Given the description of an element on the screen output the (x, y) to click on. 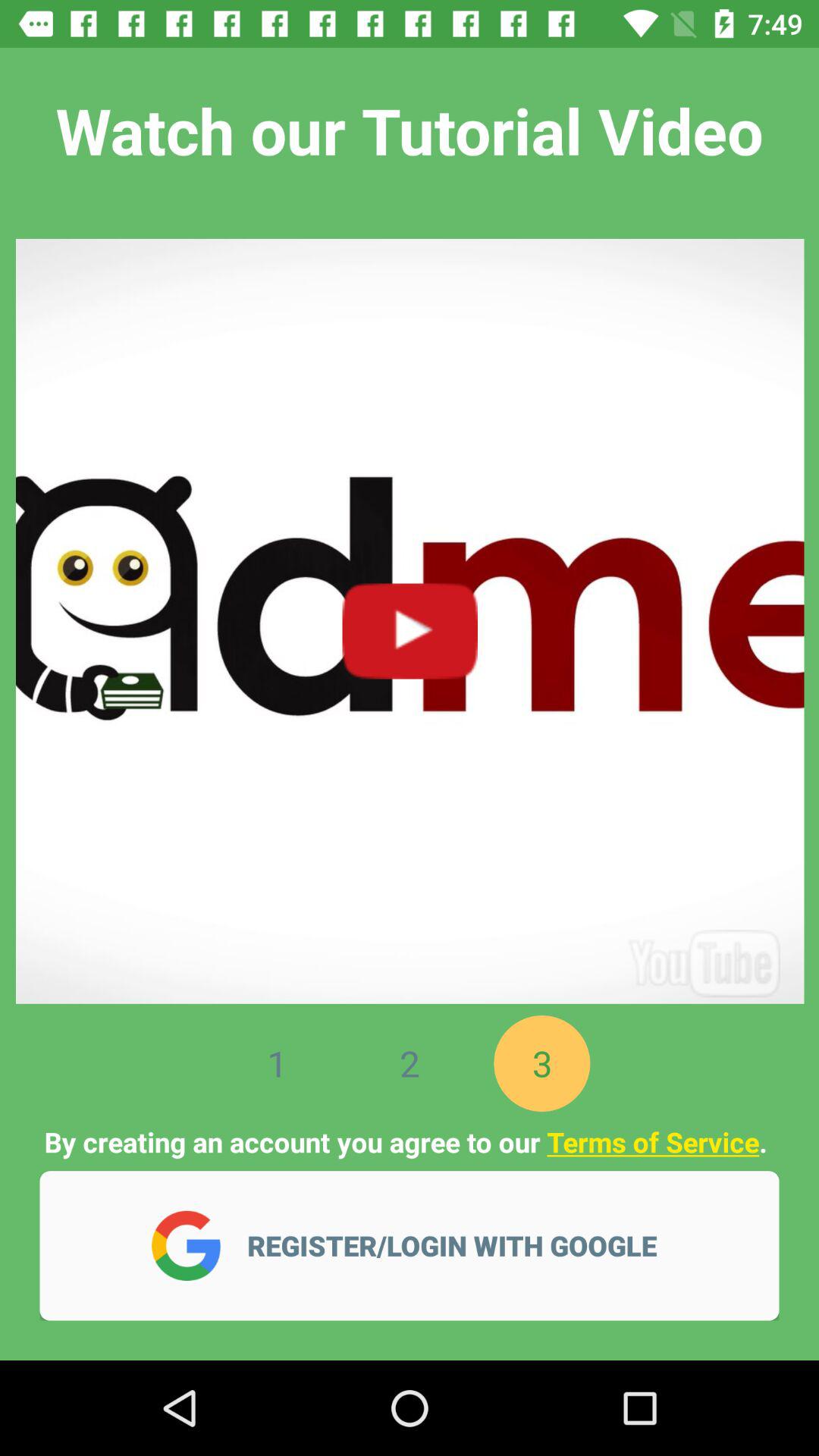
play this video (409, 612)
